Given the description of an element on the screen output the (x, y) to click on. 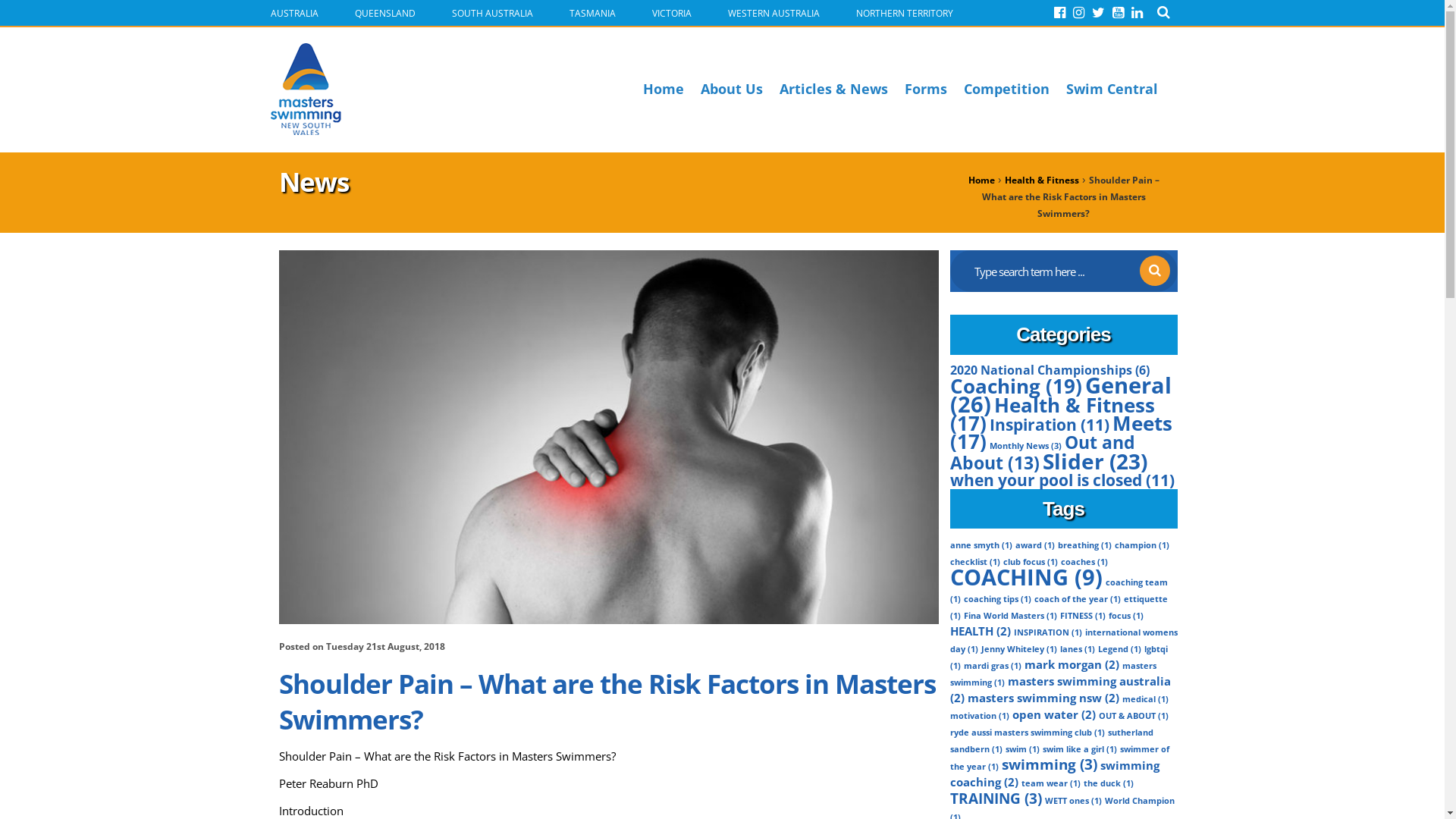
award (1) Element type: text (1034, 544)
OUT & ABOUT (1) Element type: text (1132, 715)
the duck (1) Element type: text (1107, 783)
NORTHERN TERRITORY Element type: text (902, 11)
swimming (3) Element type: text (1048, 763)
Articles & News Element type: text (833, 88)
General (26) Element type: text (1059, 394)
coaching team (1) Element type: text (1058, 590)
mardi gras (1) Element type: text (991, 665)
coaching tips (1) Element type: text (996, 598)
Fina World Masters (1) Element type: text (1009, 615)
ettiquette (1) Element type: text (1058, 607)
focus (1) Element type: text (1125, 615)
medical (1) Element type: text (1145, 698)
lanes (1) Element type: text (1077, 648)
Health & Fitness Element type: text (1041, 179)
Legend (1) Element type: text (1119, 648)
FITNESS (1) Element type: text (1082, 615)
Monthly News (3) Element type: text (1024, 445)
Coaching (19) Element type: text (1015, 385)
HEALTH (2) Element type: text (979, 630)
Competition Element type: text (1005, 88)
QUEENSLAND Element type: text (383, 11)
team wear (1) Element type: text (1049, 783)
masters swimming (1) Element type: text (1052, 673)
VICTORIA Element type: text (670, 11)
swimming coaching (2) Element type: text (1053, 773)
Forms Element type: text (924, 88)
Health & Fitness (17) Element type: text (1051, 414)
coaches (1) Element type: text (1083, 561)
anne smyth (1) Element type: text (980, 544)
Home Element type: text (663, 88)
2020 National Championships (6) Element type: text (1048, 369)
Swim Central Element type: text (1111, 88)
Inspiration (11) Element type: text (1048, 424)
when your pool is closed (11) Element type: text (1061, 479)
swim (1) Element type: text (1022, 748)
motivation (1) Element type: text (978, 715)
Home Element type: text (980, 179)
swimmer of the year (1) Element type: text (1058, 757)
coach of the year (1) Element type: text (1077, 598)
club focus (1) Element type: text (1029, 561)
WETT ones (1) Element type: text (1072, 800)
masters swimming australia (2) Element type: text (1059, 689)
international womens day (1) Element type: text (1062, 640)
Slider (23) Element type: text (1093, 460)
swim like a girl (1) Element type: text (1078, 748)
breathing (1) Element type: text (1083, 544)
INSPIRATION (1) Element type: text (1047, 632)
masters swimming nsw (2) Element type: text (1043, 697)
About Us Element type: text (731, 88)
open water (2) Element type: text (1053, 714)
Out and About (13) Element type: text (1041, 451)
SOUTH AUSTRALIA Element type: text (490, 11)
TASMANIA Element type: text (590, 11)
WESTERN AUSTRALIA Element type: text (771, 11)
s Element type: text (1154, 270)
Jenny Whiteley (1) Element type: text (1019, 648)
lgbtqi (1) Element type: text (1058, 657)
Meets (17) Element type: text (1060, 432)
mark morgan (2) Element type: text (1070, 663)
champion (1) Element type: text (1141, 544)
COACHING (9) Element type: text (1025, 576)
sutherland sandbern (1) Element type: text (1050, 740)
Search Element type: hover (1163, 12)
TRAINING (3) Element type: text (995, 797)
ryde aussi masters swimming club (1) Element type: text (1026, 732)
AUSTRALIA Element type: text (291, 11)
checklist (1) Element type: text (974, 561)
